Given the description of an element on the screen output the (x, y) to click on. 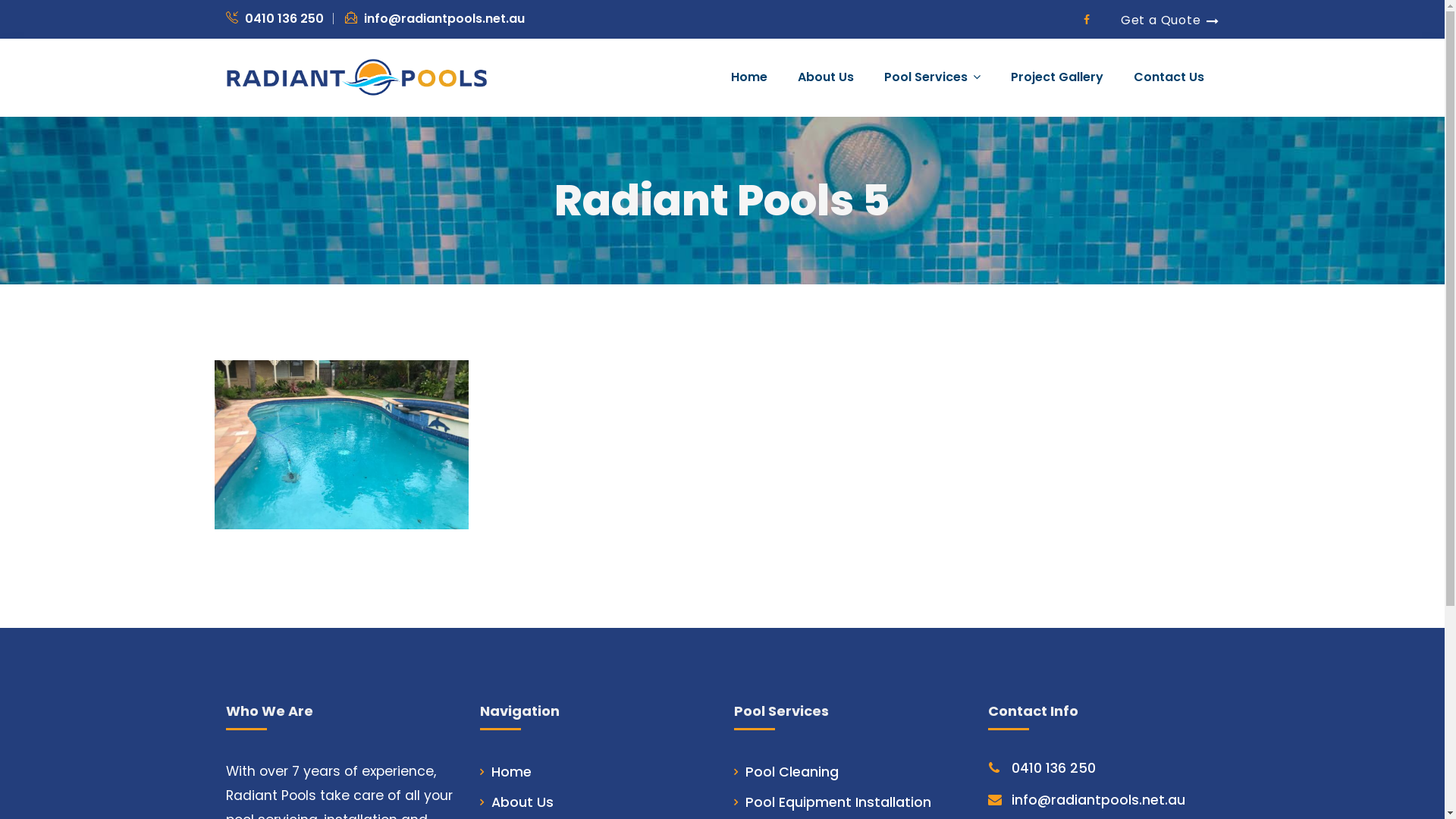
Project Gallery Element type: text (1055, 77)
0410 136 250 Element type: text (274, 18)
Pool Cleaning Element type: text (790, 771)
Home Element type: text (511, 771)
0410 136 250 Element type: text (1053, 768)
info@radiantpools.net.au Element type: text (1098, 799)
Pool Equipment Installation Element type: text (837, 802)
info@radiantpools.net.au Element type: text (434, 18)
Get a Quote Element type: text (1169, 20)
Home Element type: text (748, 77)
Pool Services Element type: text (932, 77)
About Us Element type: text (825, 77)
About Us Element type: text (522, 802)
Contact Us Element type: text (1167, 77)
